Given the description of an element on the screen output the (x, y) to click on. 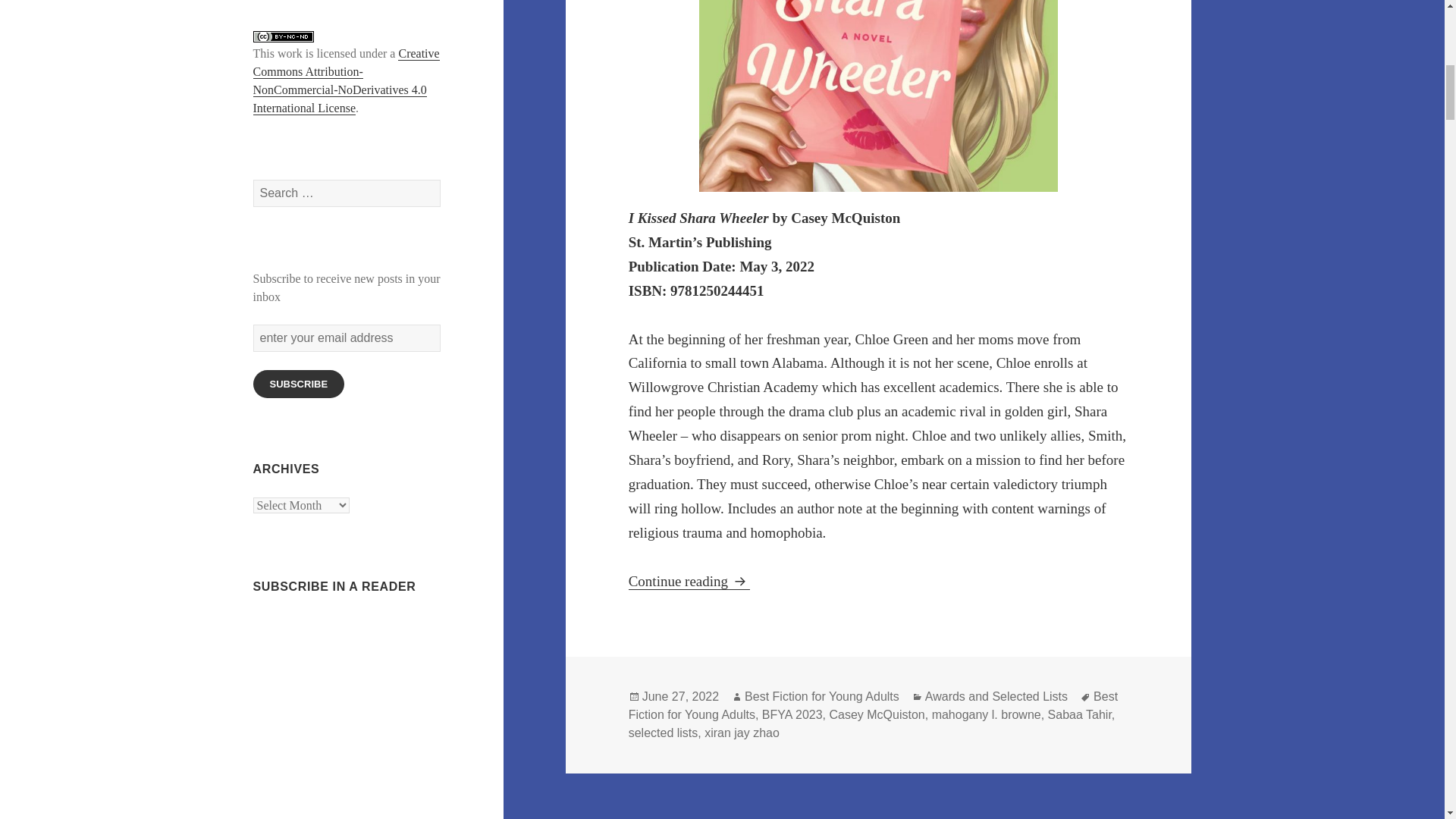
BFYA 2023 (791, 714)
June 27, 2022 (680, 696)
Best Fiction for Young Adults (873, 705)
Best Fiction for Young Adults (821, 696)
Awards and Selected Lists (995, 696)
SUBSCRIBE (299, 384)
